Given the description of an element on the screen output the (x, y) to click on. 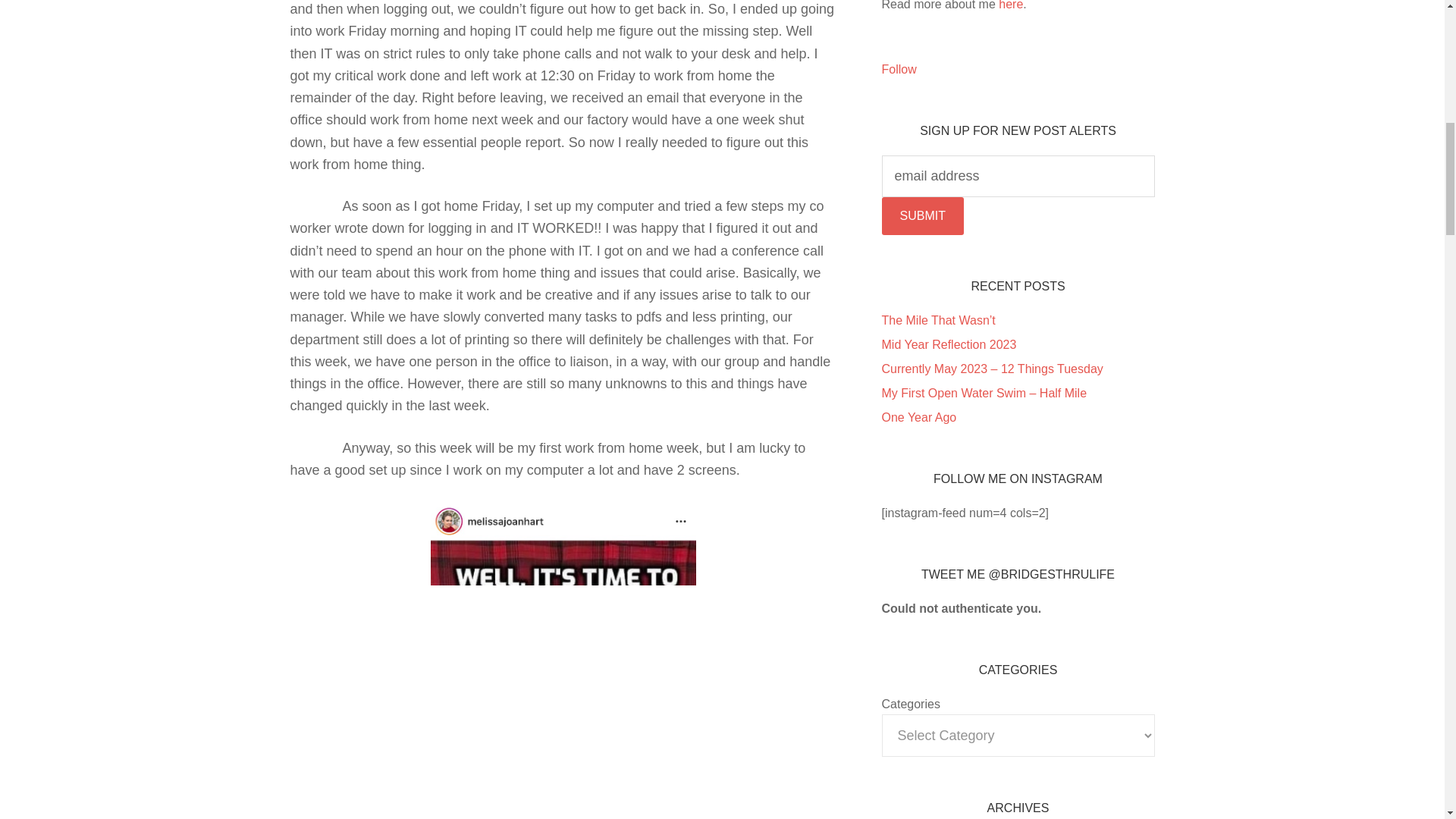
Submit (921, 216)
here (1010, 5)
Follow (897, 69)
Submit (921, 216)
One Year Ago (918, 417)
Mid Year Reflection 2023 (948, 344)
